Given the description of an element on the screen output the (x, y) to click on. 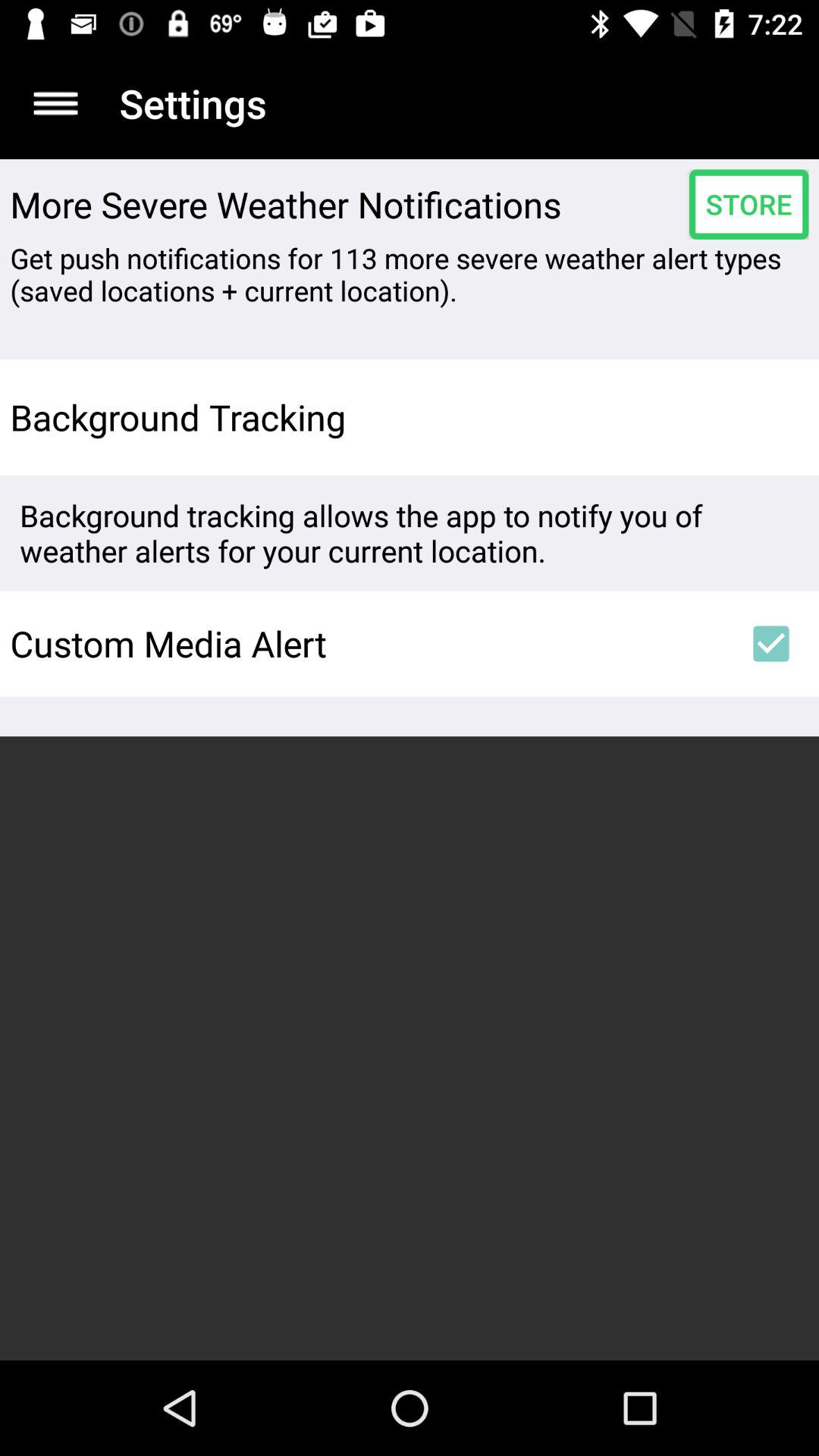
press the icon below the background tracking allows item (771, 643)
